Given the description of an element on the screen output the (x, y) to click on. 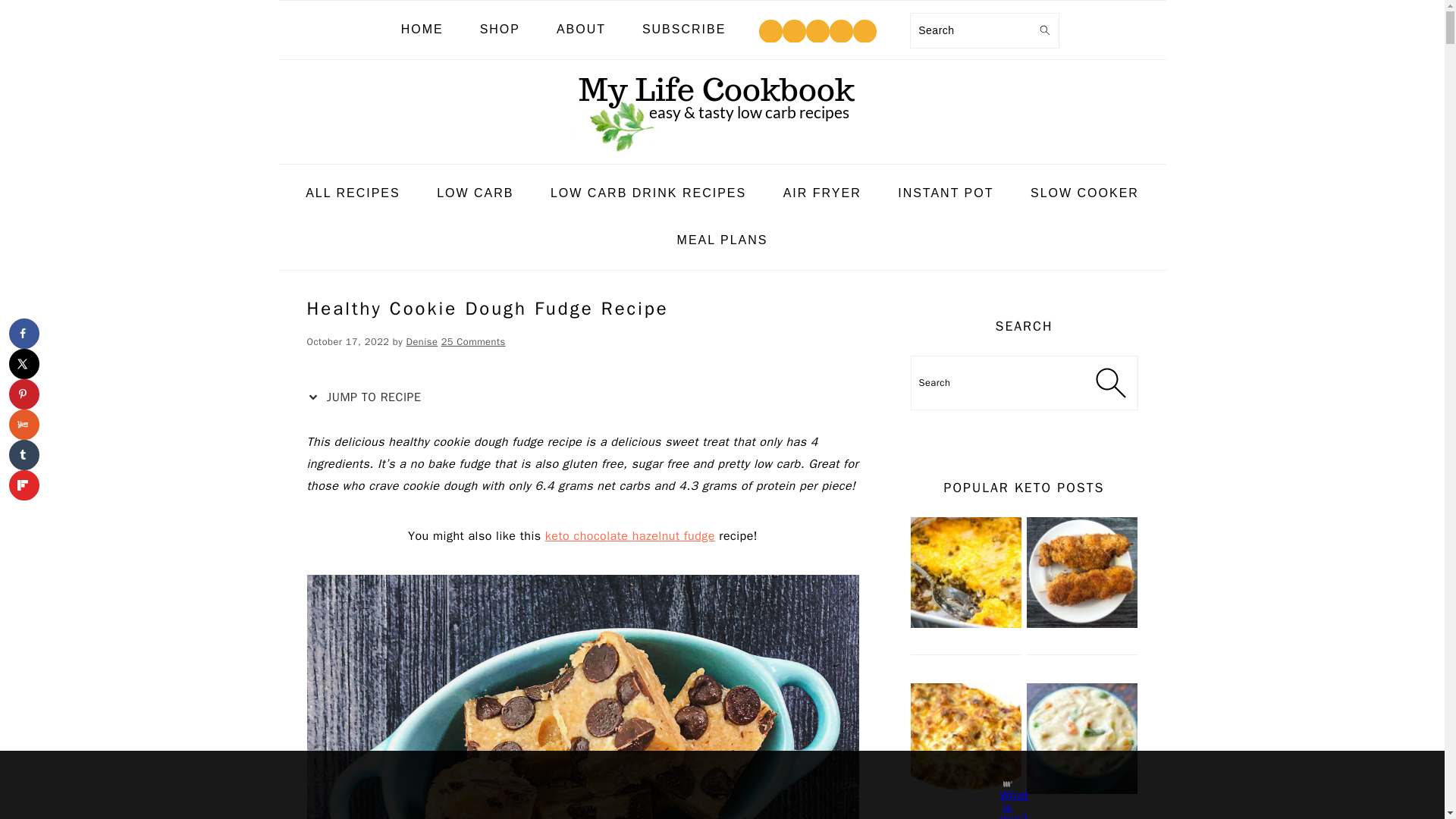
AIR FRYER (822, 193)
My Life Cookbook - low carb healthy everyday recipes. (721, 107)
Keto Cheesy Ground Beef Cauliflower Casserole (965, 624)
Pinterest (817, 31)
LOW CARB (474, 193)
Instagram (794, 30)
SHOP (499, 29)
SUBSCRIBE (683, 29)
Twitter (864, 31)
HOME (422, 29)
SLOW COOKER (1084, 193)
